Given the description of an element on the screen output the (x, y) to click on. 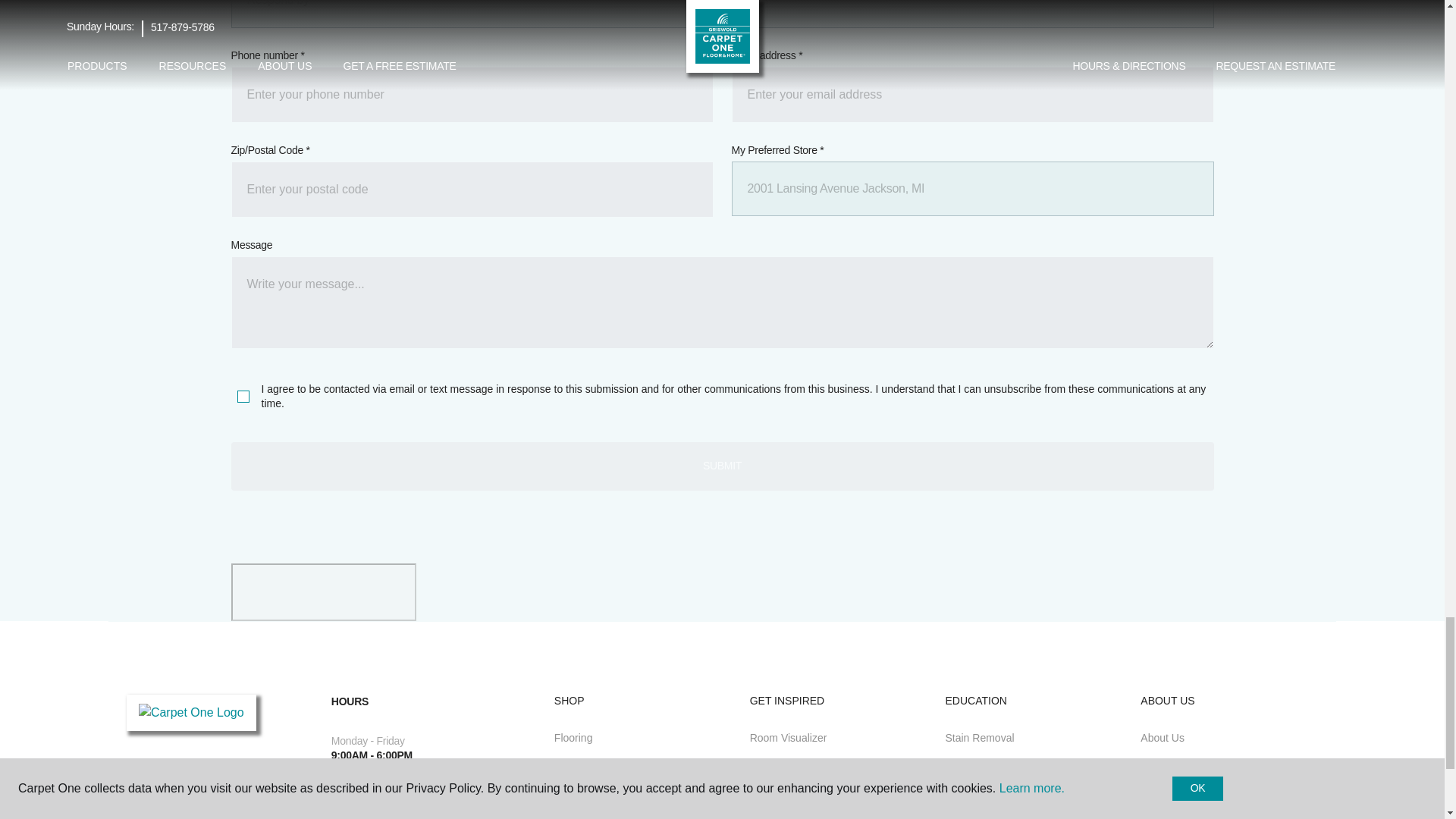
PostalCode (471, 189)
CleanHomePhone (471, 94)
EmailAddress (971, 94)
MyMessage (721, 302)
